Given the description of an element on the screen output the (x, y) to click on. 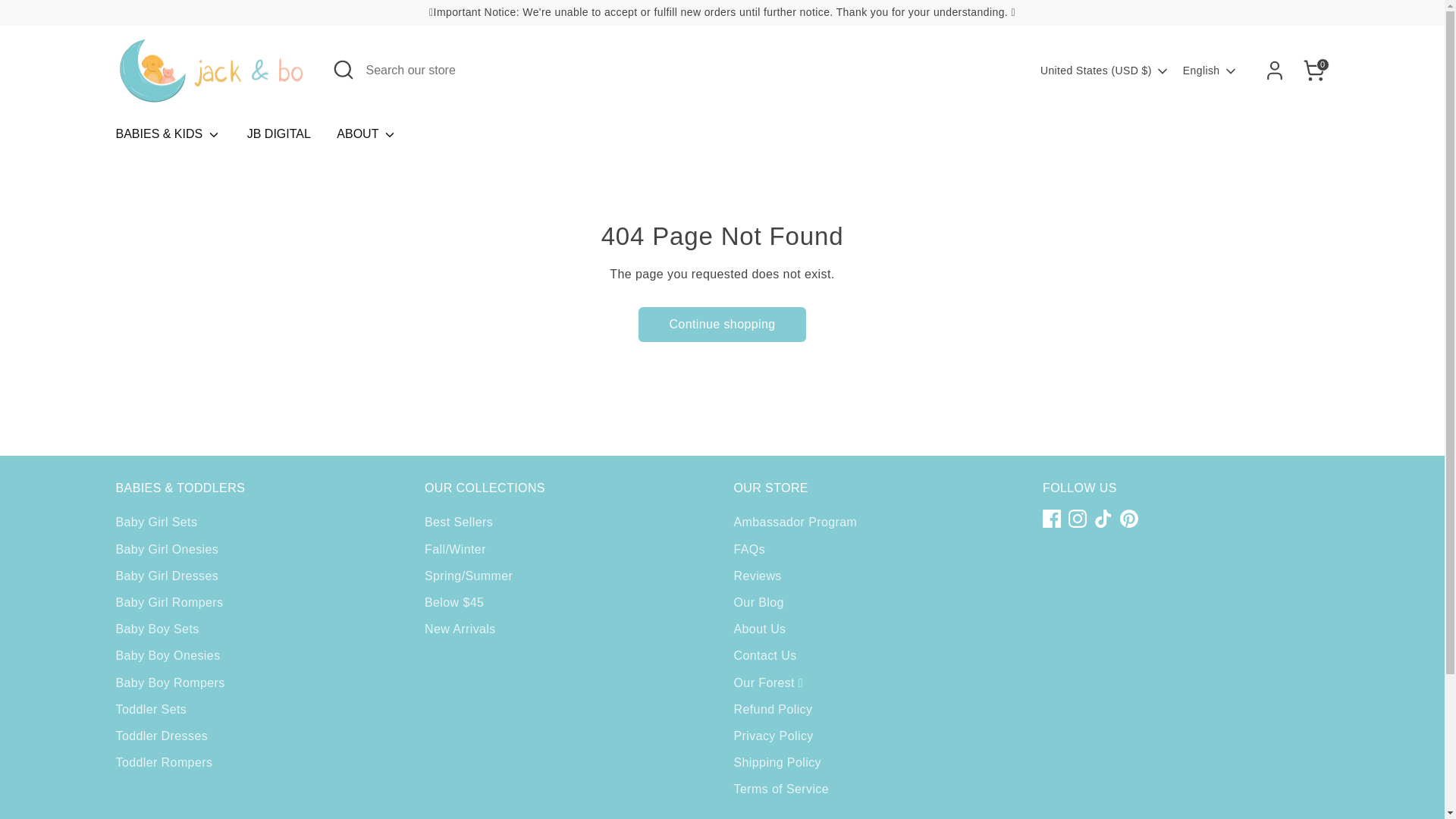
0 (1312, 70)
English (1210, 70)
